Given the description of an element on the screen output the (x, y) to click on. 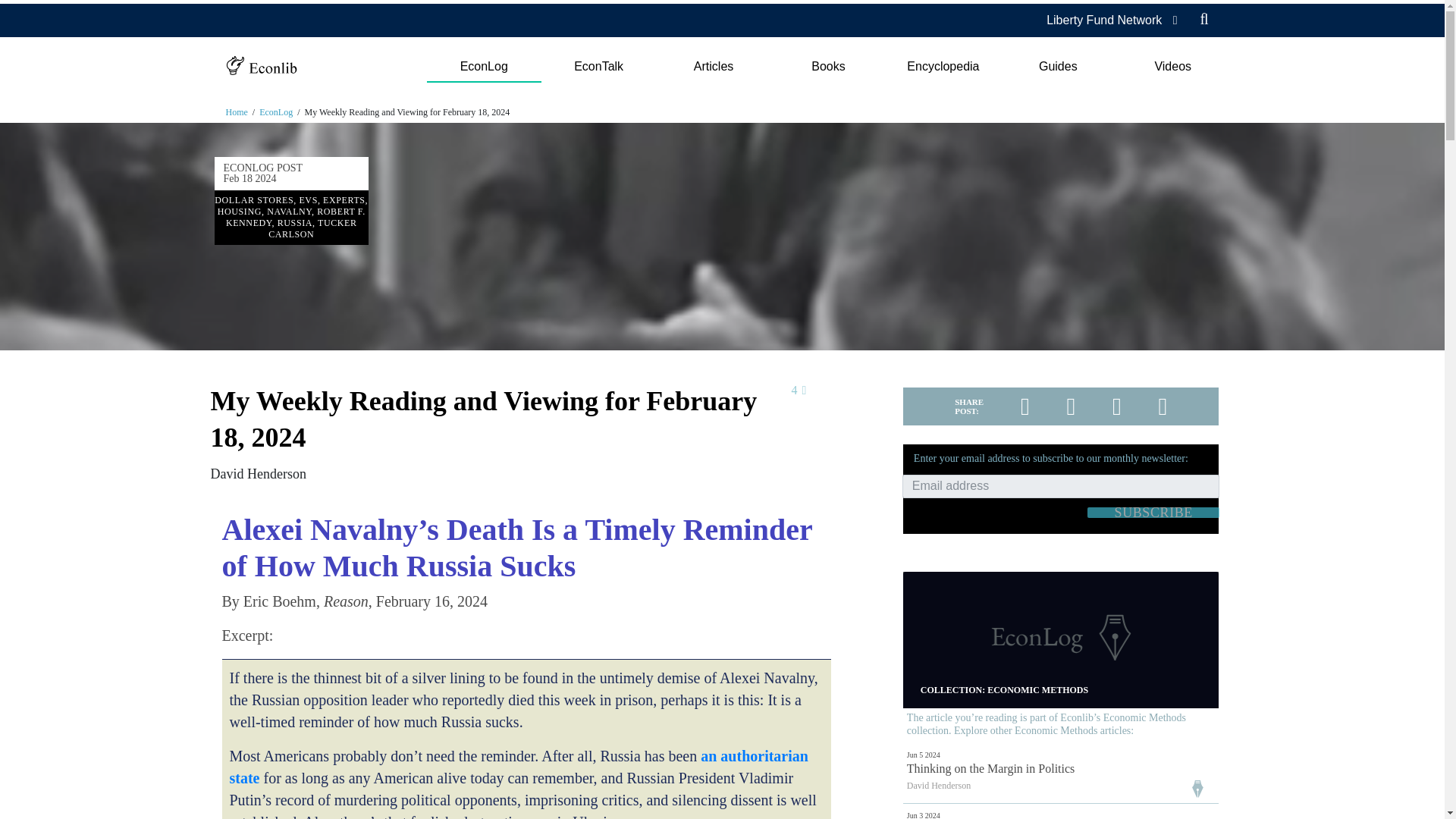
Liberty Fund Network (1104, 20)
Encyclopedia (942, 66)
Books (828, 66)
EconLog (483, 67)
David Henderson (258, 473)
Subscribe (1153, 511)
EconTalk (598, 66)
Articles (713, 66)
